Given the description of an element on the screen output the (x, y) to click on. 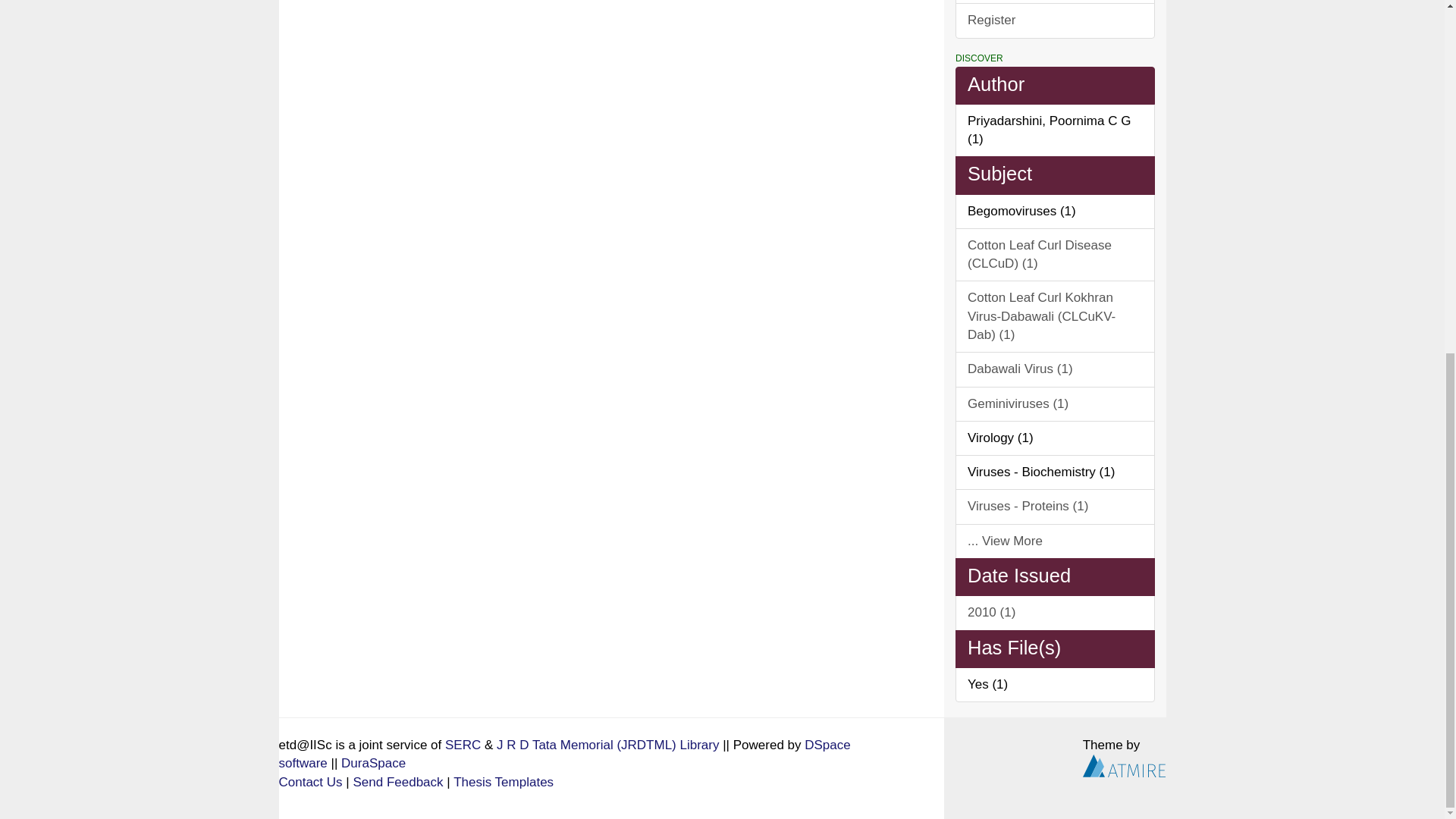
Atmire NV (1124, 765)
